Given the description of an element on the screen output the (x, y) to click on. 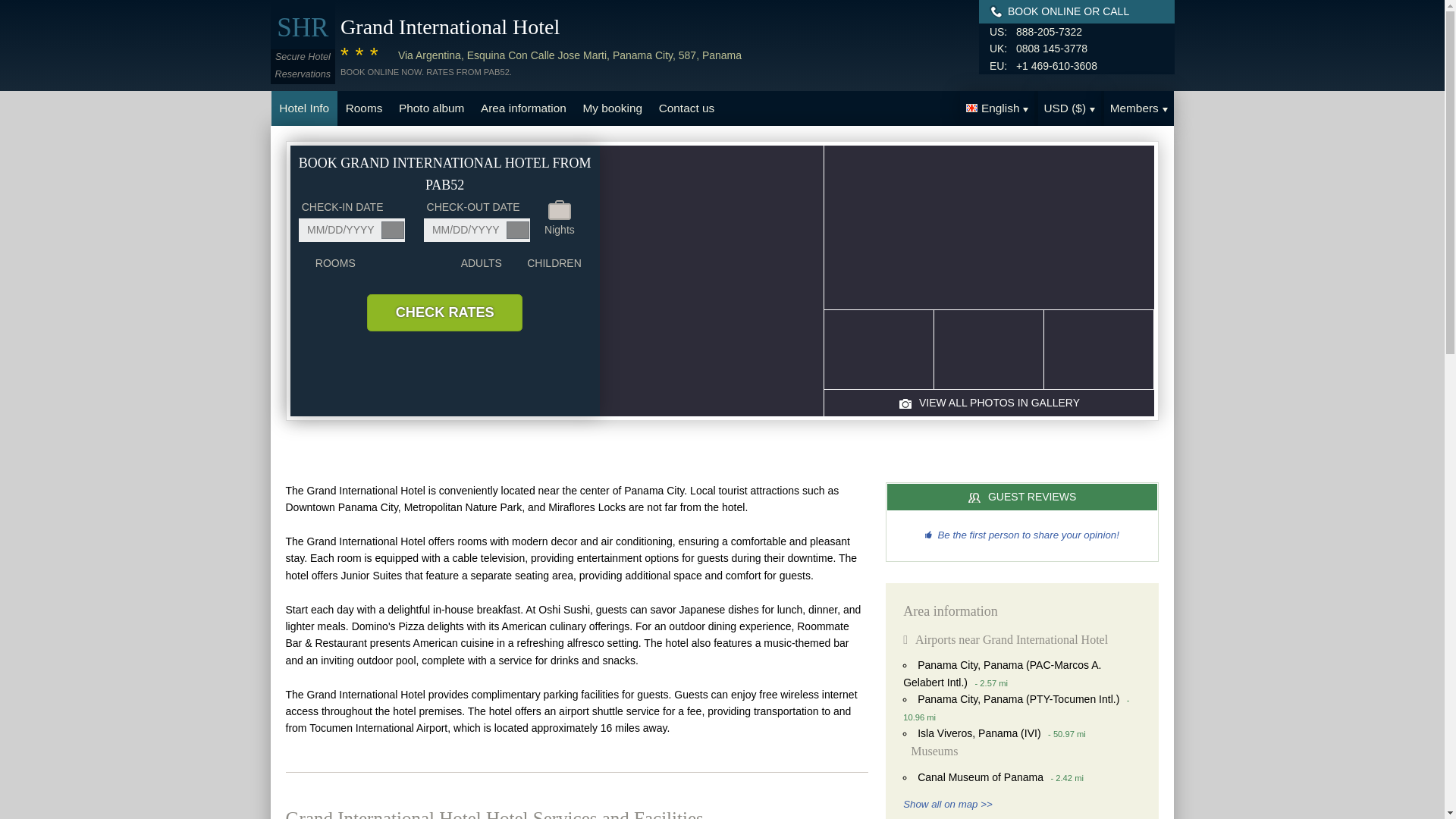
Hotel Info (303, 107)
Rooms (363, 107)
Contact us (686, 107)
My booking (612, 107)
Area information (522, 107)
